Given the description of an element on the screen output the (x, y) to click on. 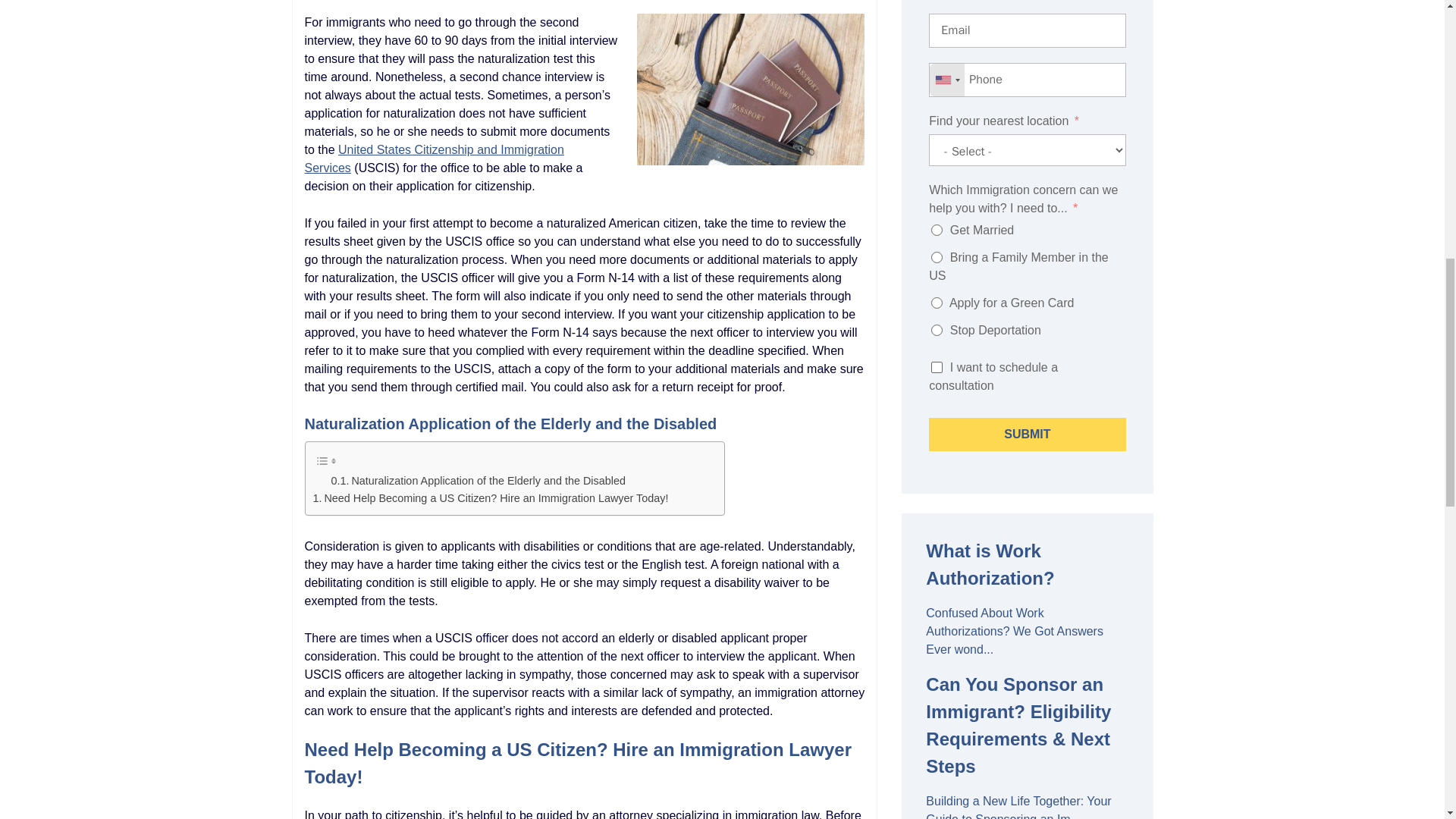
Naturalization Application of the Elderly and the Disabled (477, 480)
What is Work Authorization? (1027, 564)
